Given the description of an element on the screen output the (x, y) to click on. 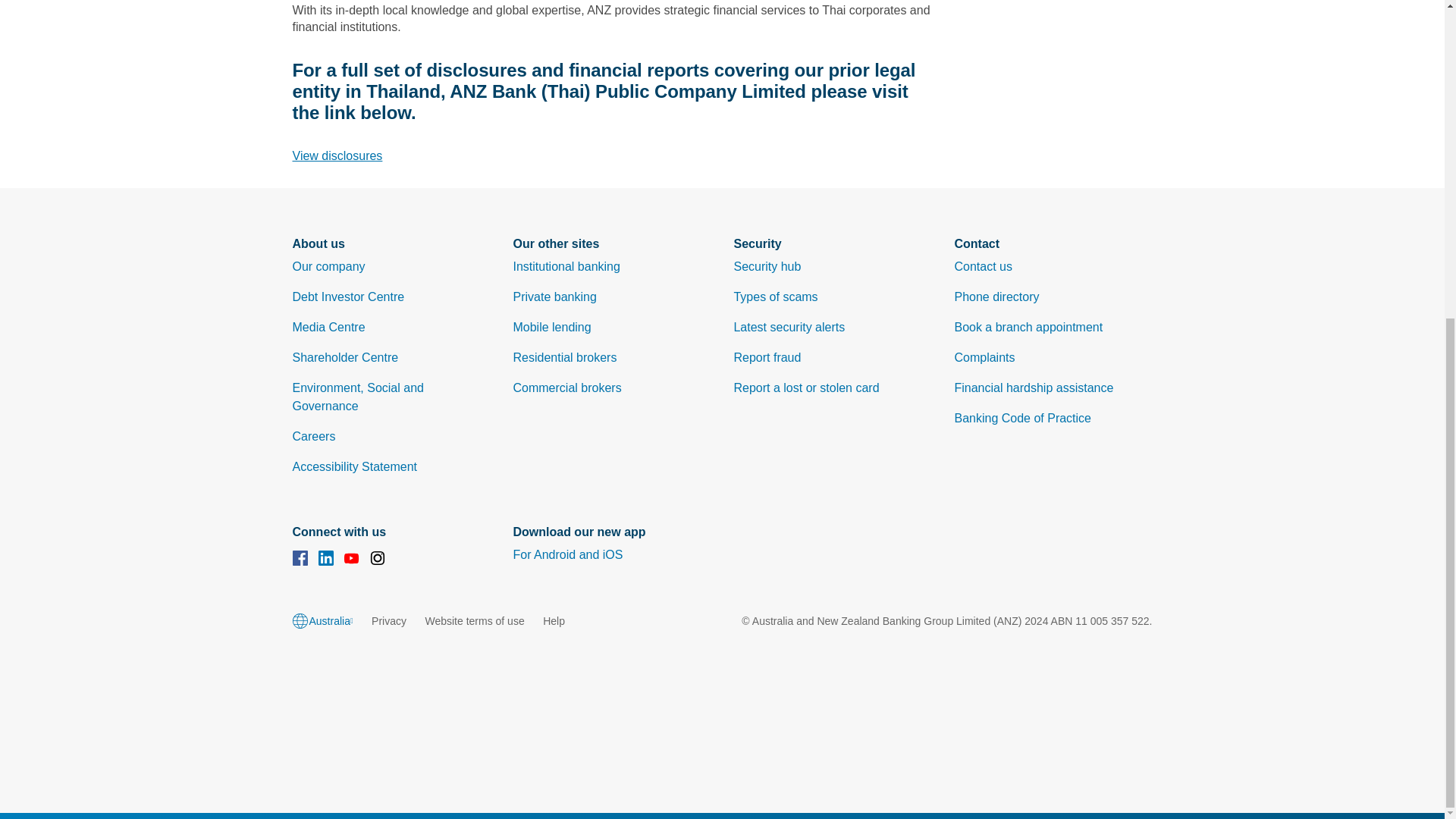
LinkedIn (325, 560)
Facebook (299, 560)
Youtube (351, 560)
Instagram (377, 560)
